Given the description of an element on the screen output the (x, y) to click on. 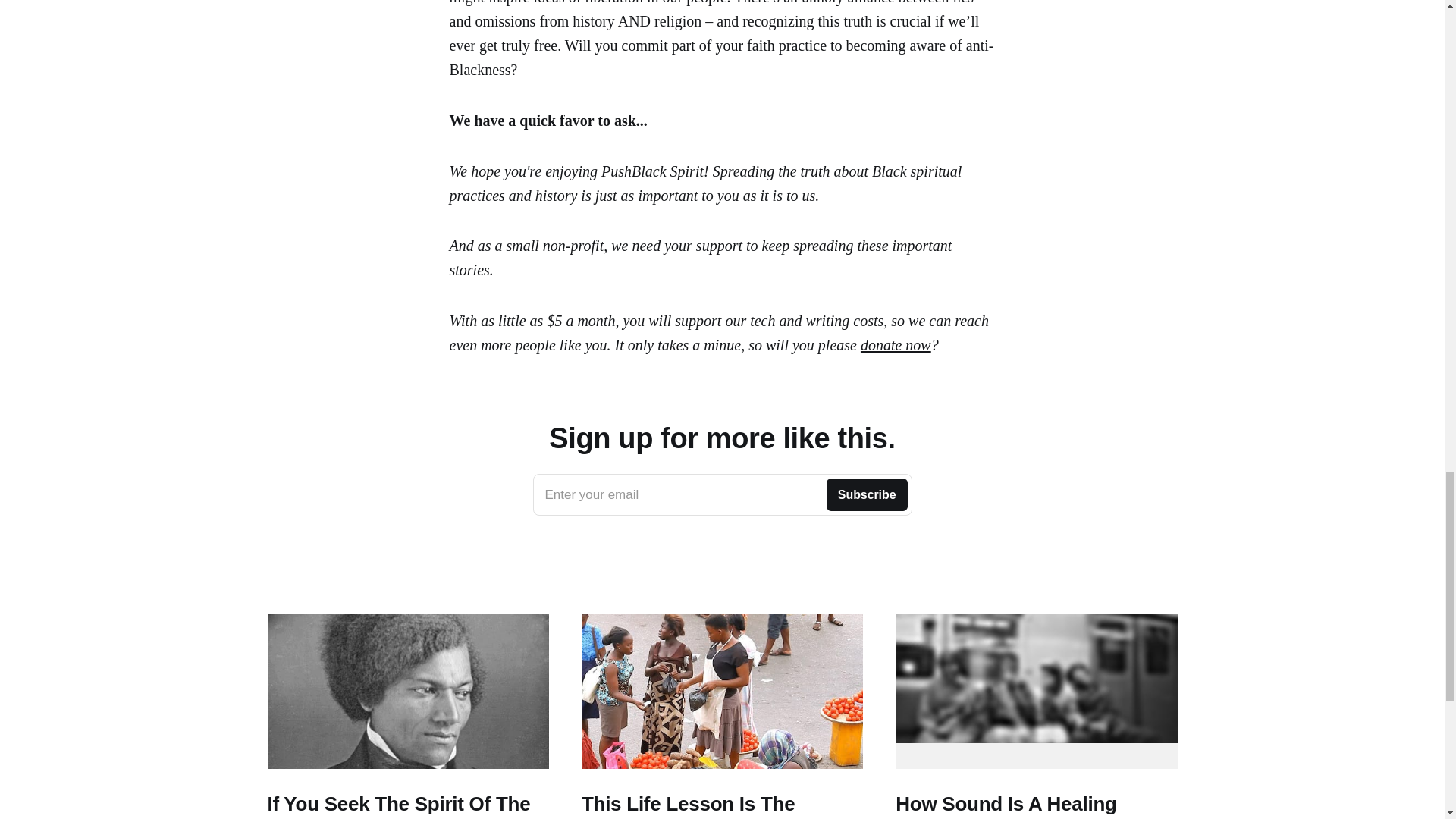
donate now (721, 495)
